Given the description of an element on the screen output the (x, y) to click on. 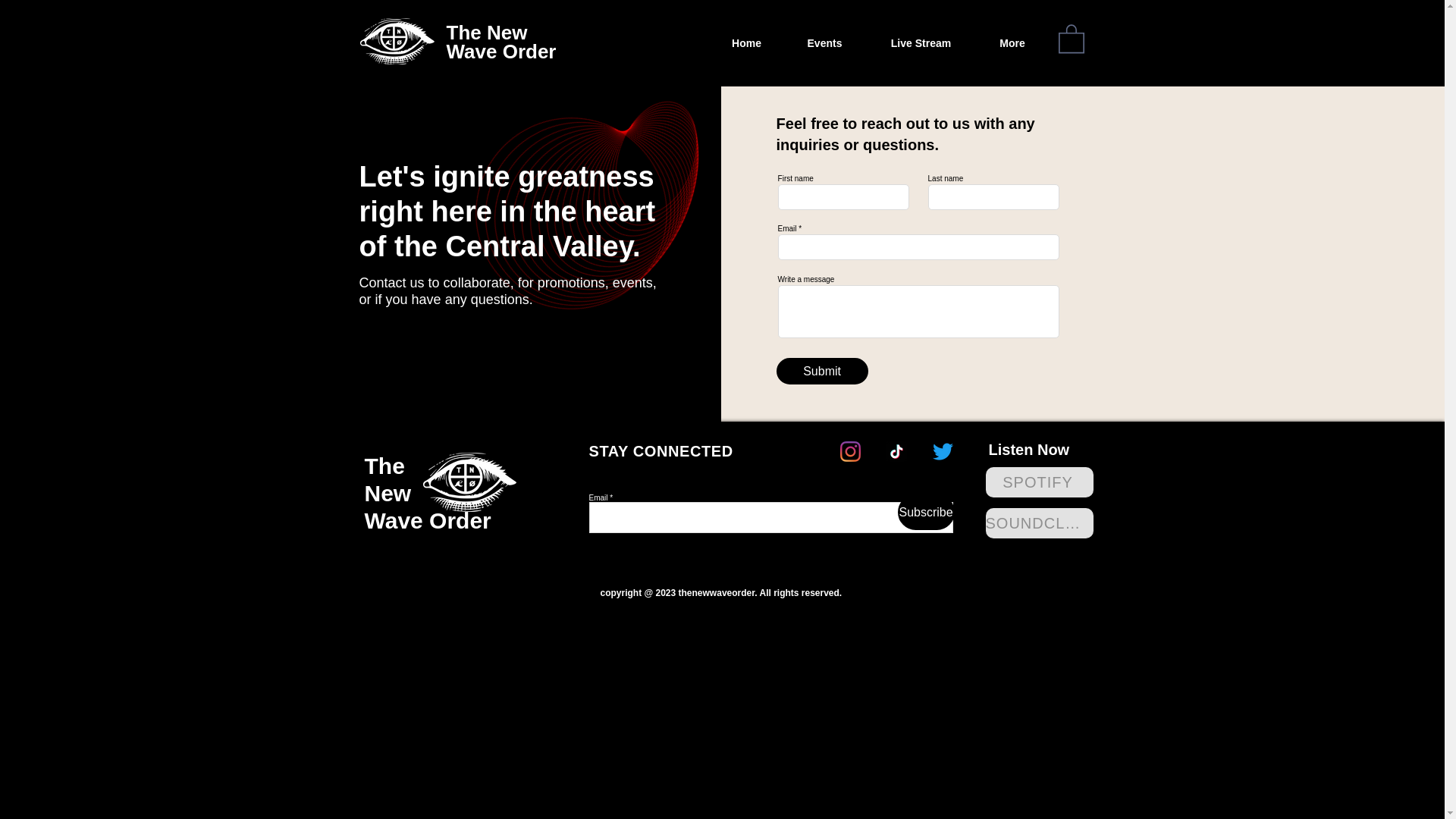
Home (745, 43)
Submit (821, 370)
SOUNDCLOUD (1039, 522)
Live Stream (920, 43)
Events (824, 43)
The New Wave Order Logo.png (469, 481)
Subscribe (926, 511)
SPOTIFY (1039, 481)
